Given the description of an element on the screen output the (x, y) to click on. 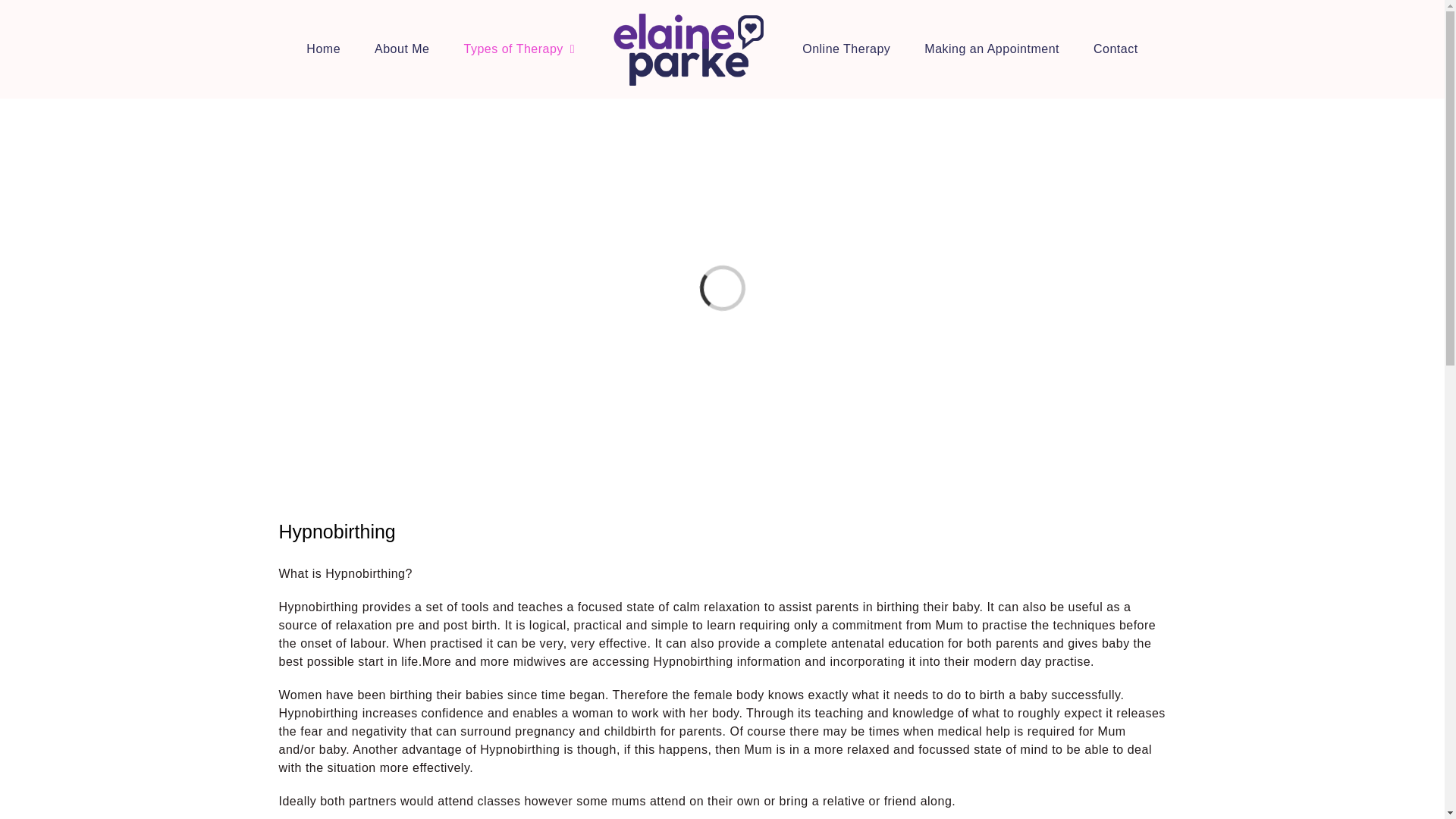
Making an Appointment (991, 49)
Types of Therapy (519, 49)
Online Therapy (845, 49)
